Given the description of an element on the screen output the (x, y) to click on. 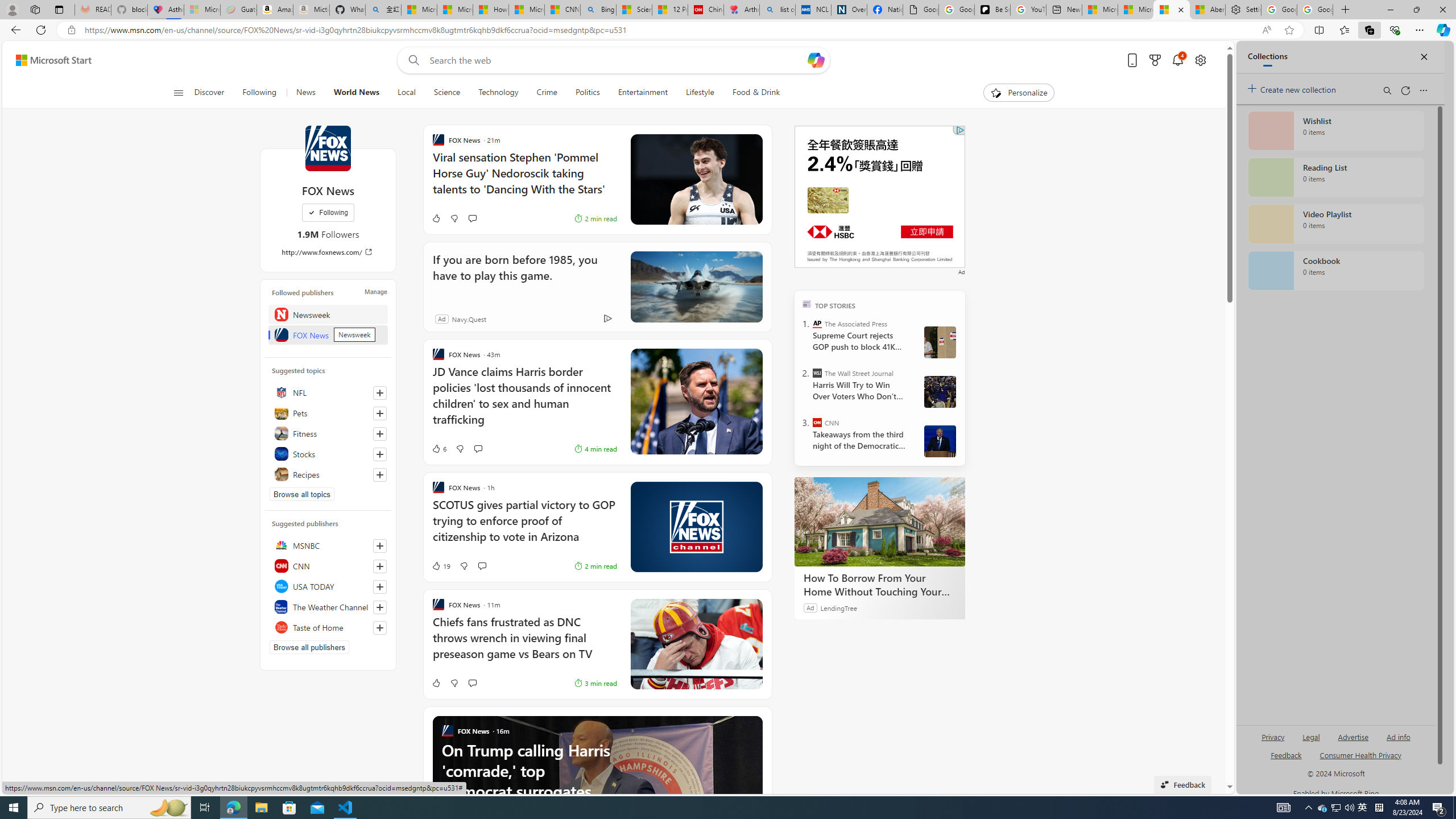
The Wall Street Journal (816, 372)
CNN (816, 422)
Recipes (327, 474)
